Given the description of an element on the screen output the (x, y) to click on. 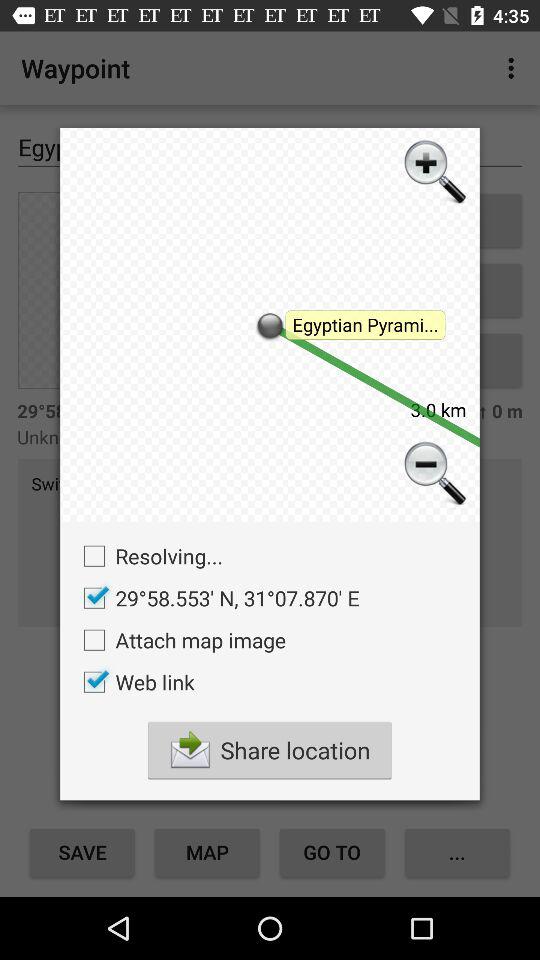
open icon above attach map image icon (216, 598)
